Given the description of an element on the screen output the (x, y) to click on. 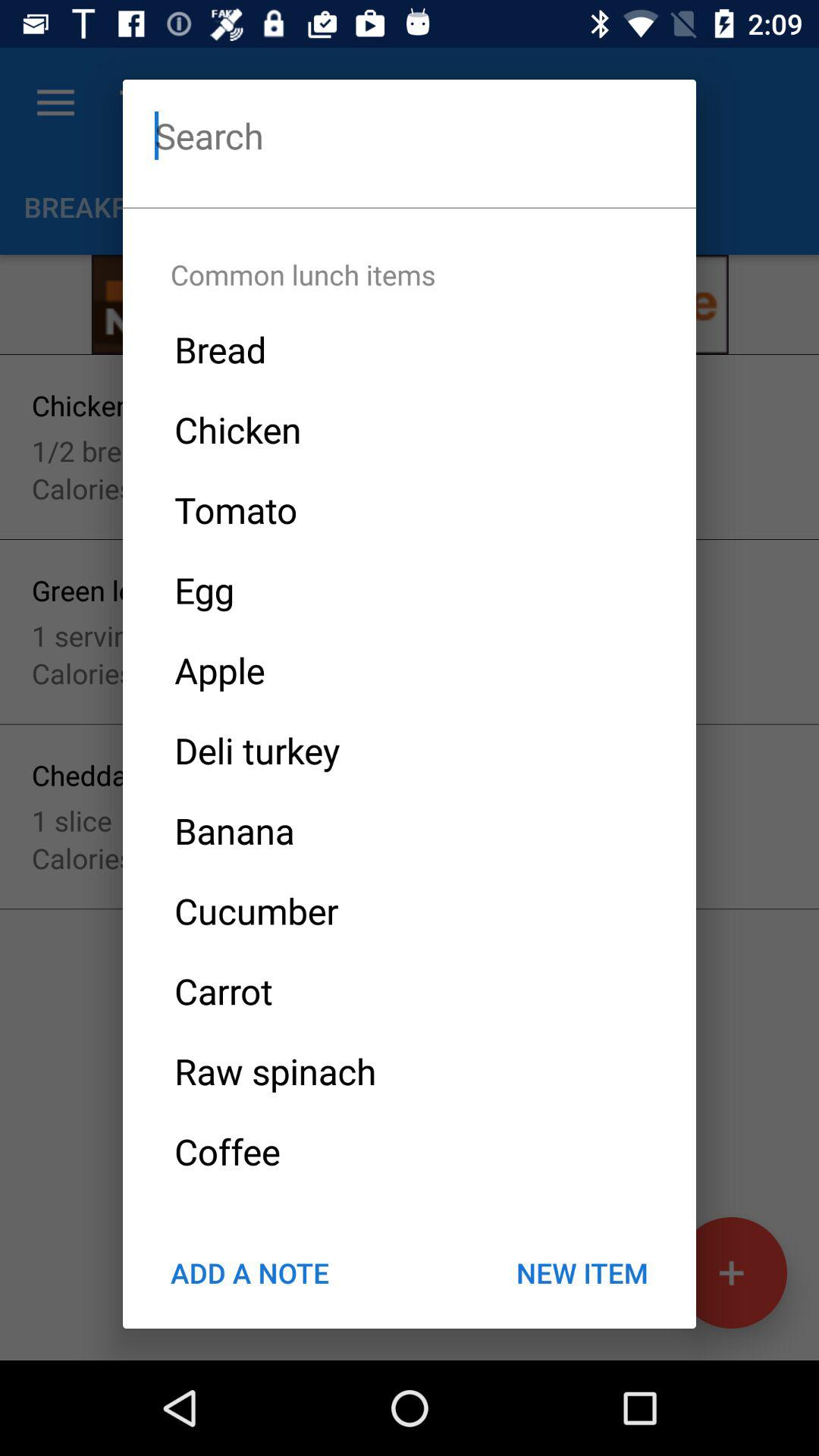
turn off the item to the left of the new item icon (249, 1272)
